Given the description of an element on the screen output the (x, y) to click on. 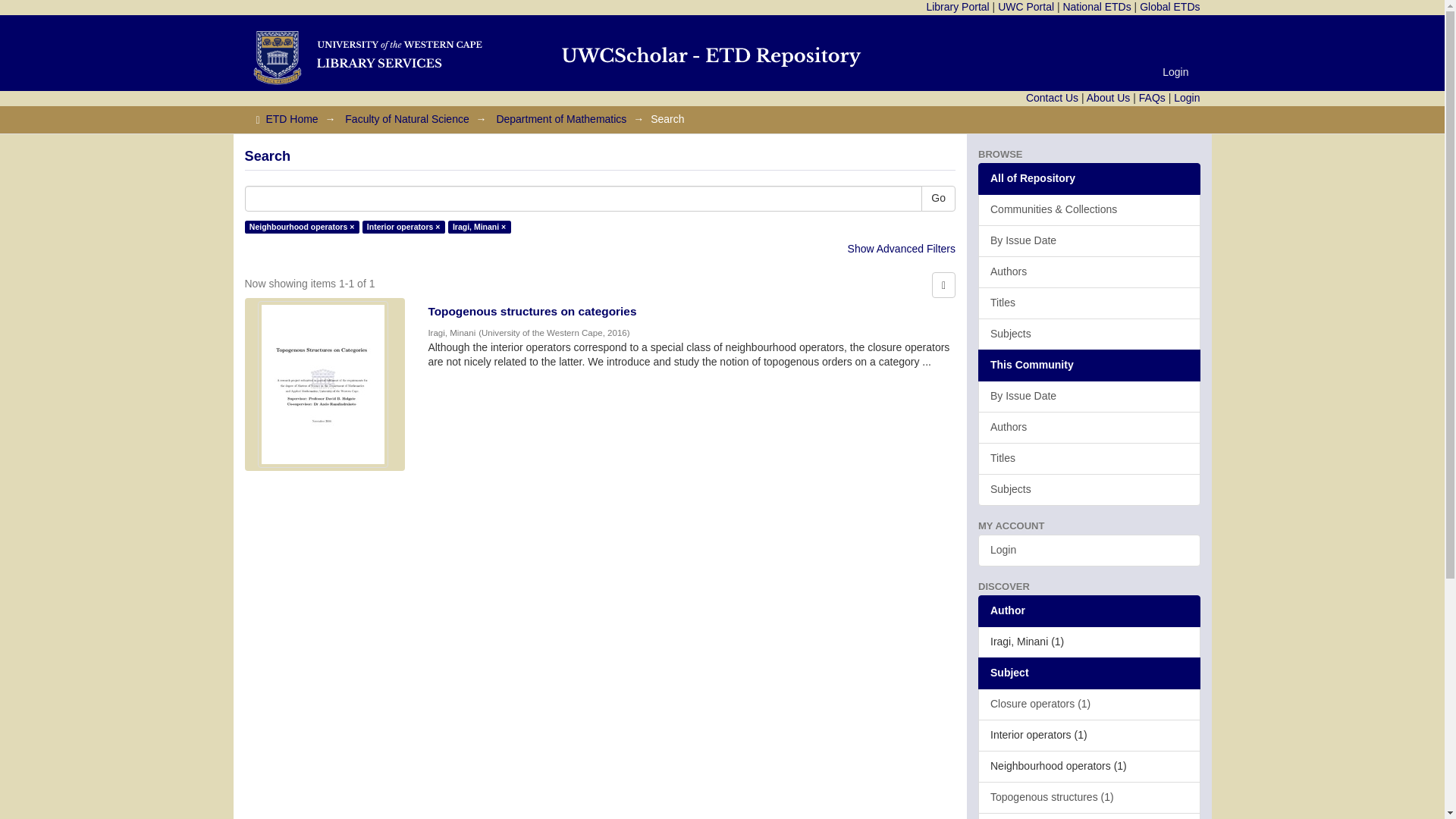
Contact Us (1052, 97)
Global ETDs (1169, 6)
UWC Portal (1025, 6)
Department of Mathematics (561, 119)
Show Advanced Filters (901, 248)
About Us (1108, 97)
Go (938, 198)
Faculty of Natural Science (406, 119)
Library Portal (957, 6)
FAQs (1152, 97)
